Given the description of an element on the screen output the (x, y) to click on. 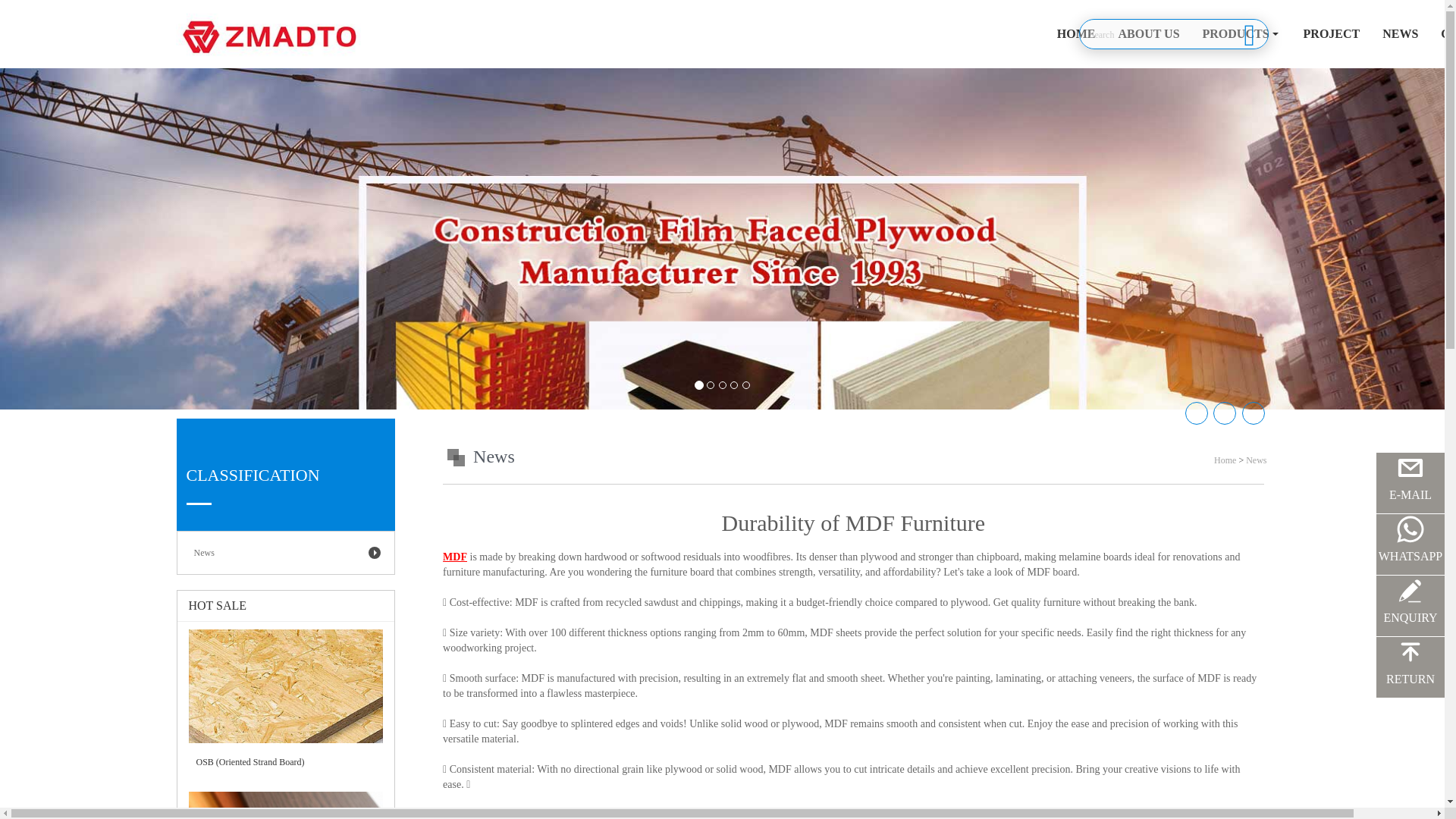
Home (1225, 460)
facebook (1196, 413)
MDF (454, 556)
linkedin (1253, 413)
News (285, 552)
ZMADTO (820, 814)
News (494, 456)
MDF (454, 556)
Home (1225, 460)
News (1256, 460)
HOME (1075, 33)
PRODUCTS (1241, 33)
PROJECT (1331, 33)
ZMADTO (820, 814)
ABOUT US (1148, 33)
